Given the description of an element on the screen output the (x, y) to click on. 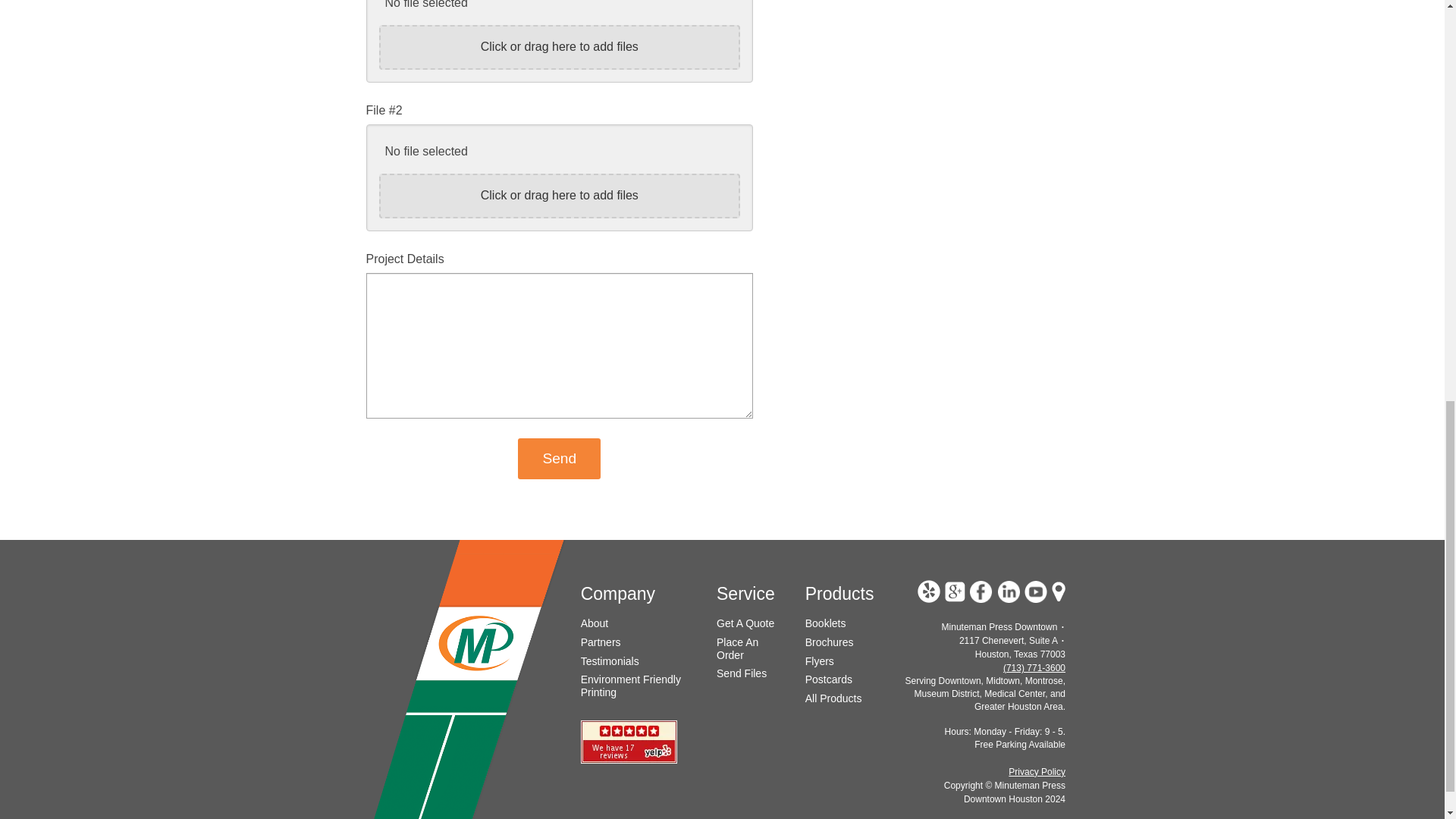
Send (558, 458)
